Given the description of an element on the screen output the (x, y) to click on. 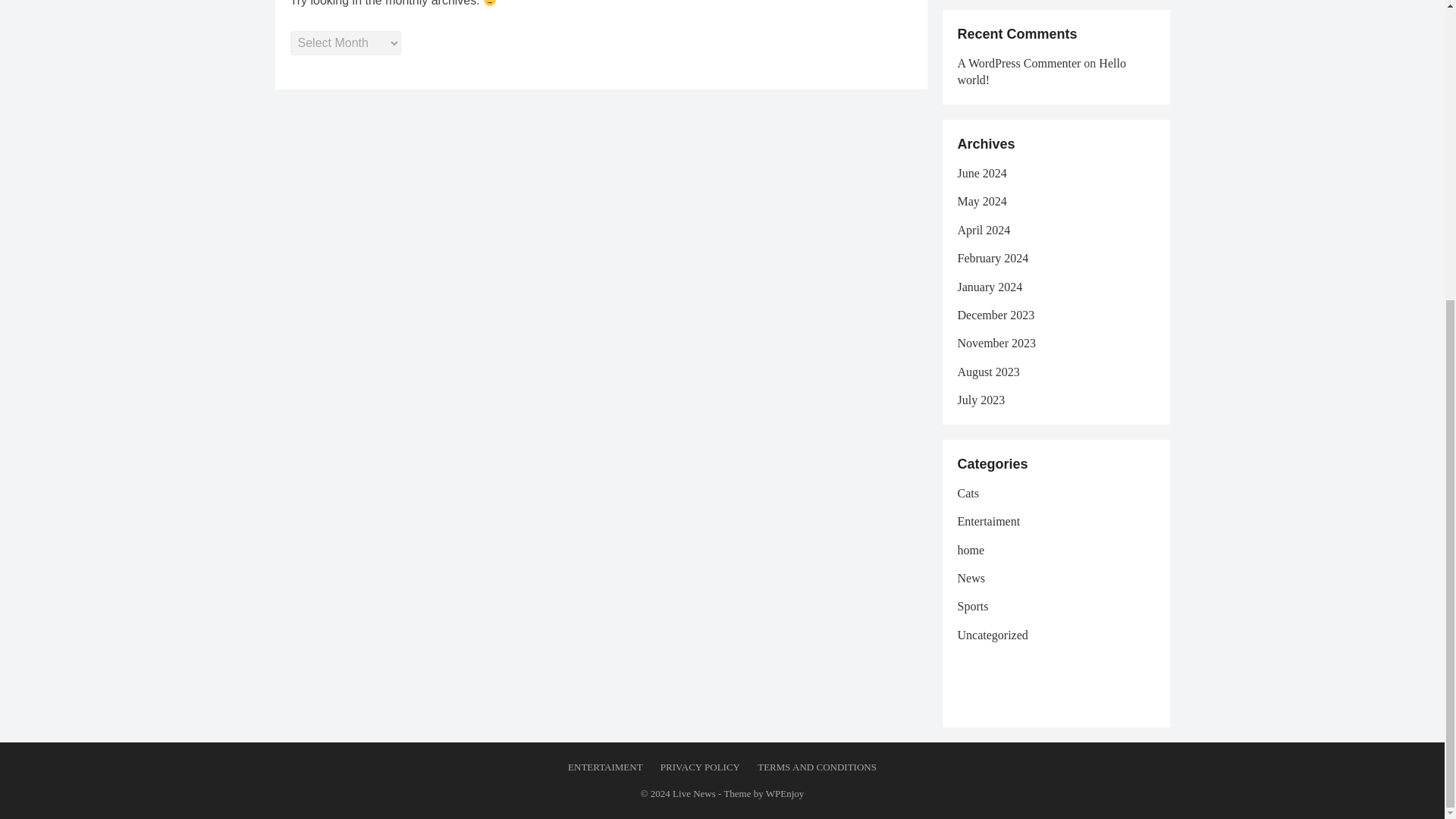
Sports (972, 605)
August 2023 (987, 371)
Cats (967, 492)
News (970, 577)
July 2023 (980, 399)
April 2024 (983, 229)
May 2024 (981, 201)
Entertaiment (988, 521)
June 2024 (981, 173)
home (970, 549)
November 2023 (995, 342)
January 2024 (989, 286)
December 2023 (994, 314)
Uncategorized (991, 634)
A WordPress Commenter (1018, 62)
